Given the description of an element on the screen output the (x, y) to click on. 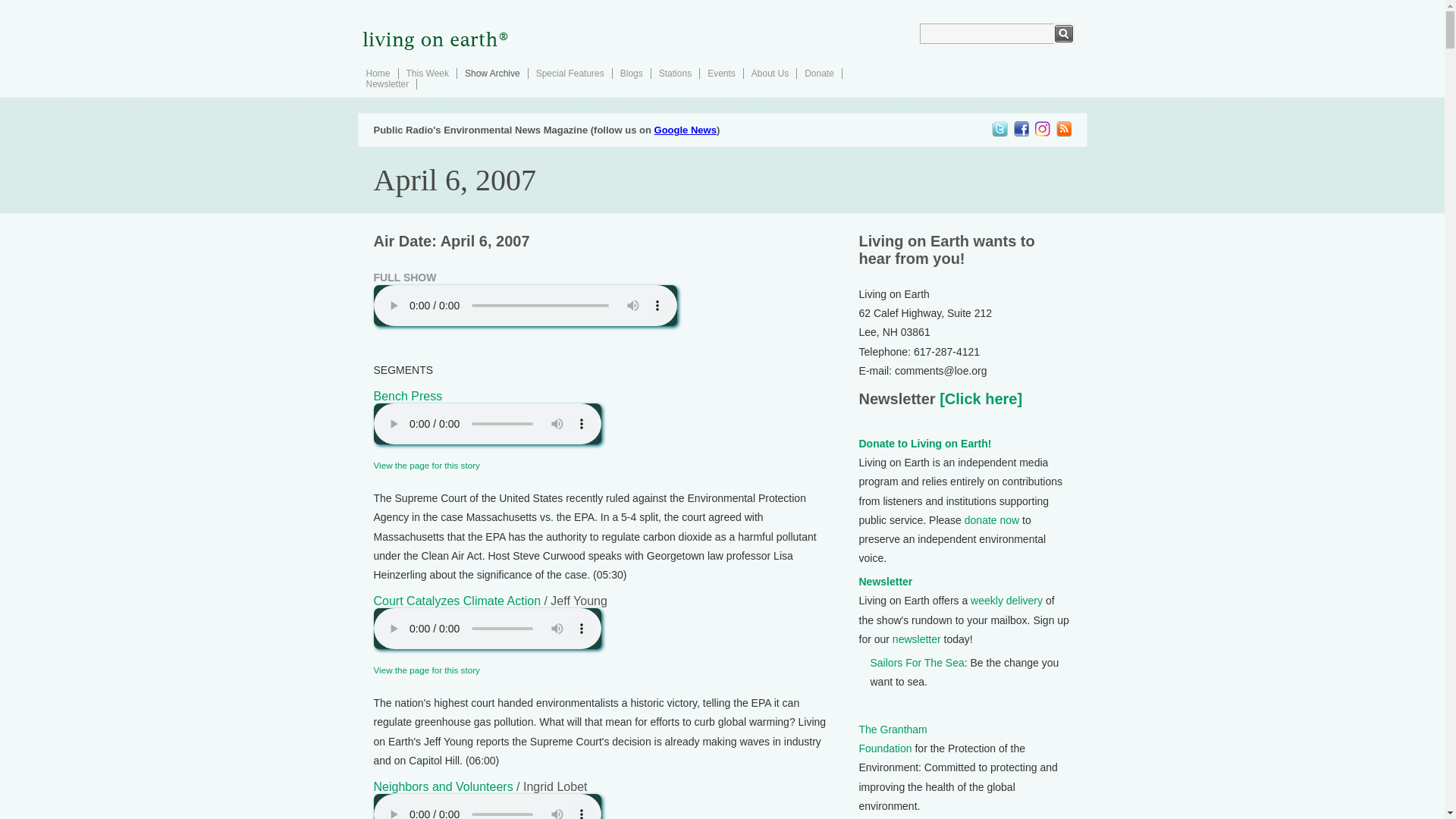
View the page for this story (425, 669)
Court Catalyzes Climate Action (456, 600)
Show Archive (491, 72)
Bench Press (407, 395)
Google News (684, 129)
Blogs (631, 72)
View the page for this story (425, 465)
Donate (819, 72)
Special Features (569, 72)
This Week (427, 72)
Stations (675, 72)
Home (377, 72)
About Us (770, 72)
Neighbors and Volunteers (442, 786)
Events (721, 72)
